Given the description of an element on the screen output the (x, y) to click on. 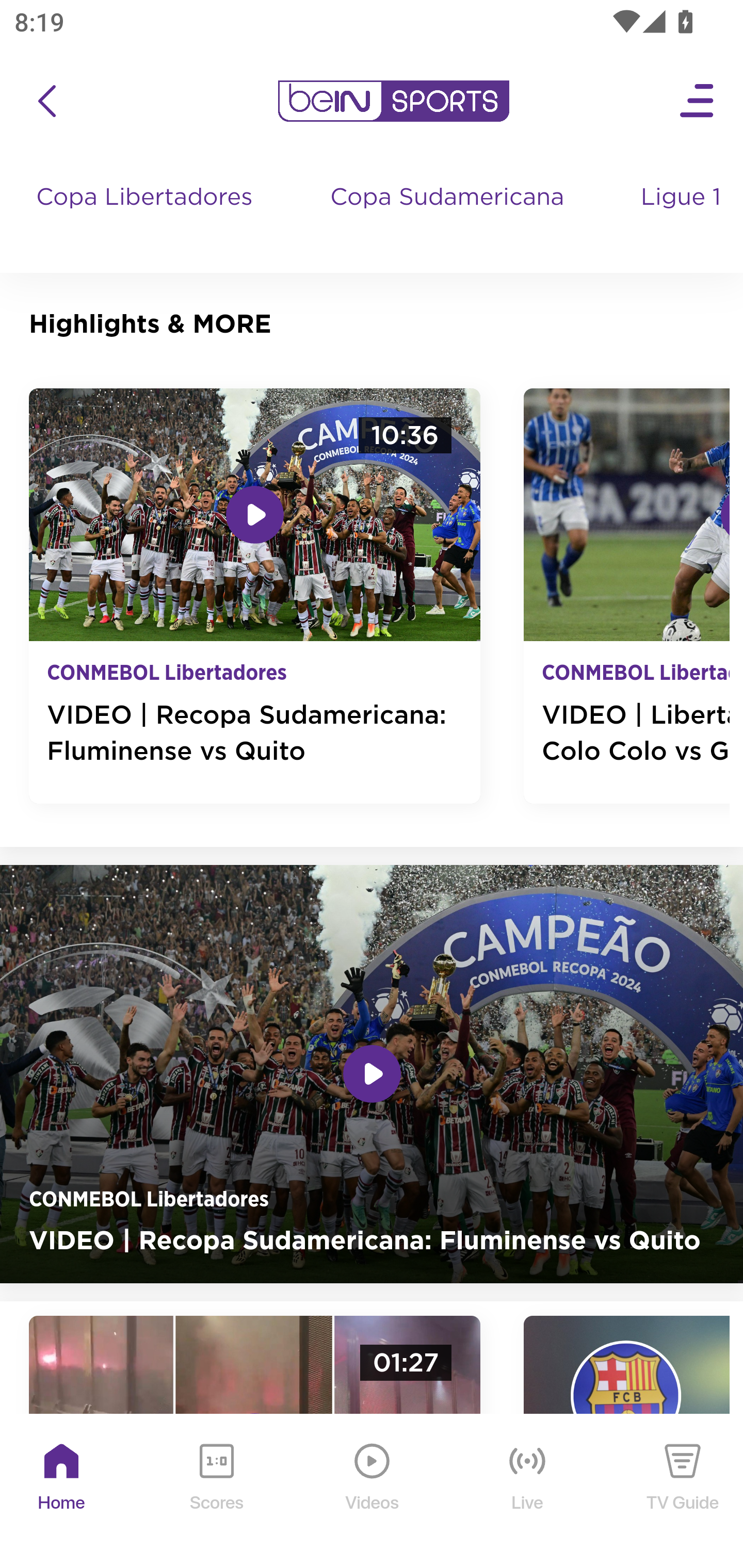
en-us?platform=mobile_android bein logo (392, 101)
icon back (46, 101)
Open Menu Icon (697, 101)
Copa Libertadores (146, 216)
Copa Sudamericana (448, 216)
Ligue 1 (682, 216)
Home Home Icon Home (61, 1491)
Scores Scores Icon Scores (216, 1491)
Videos Videos Icon Videos (372, 1491)
TV Guide TV Guide Icon TV Guide (682, 1491)
